Given the description of an element on the screen output the (x, y) to click on. 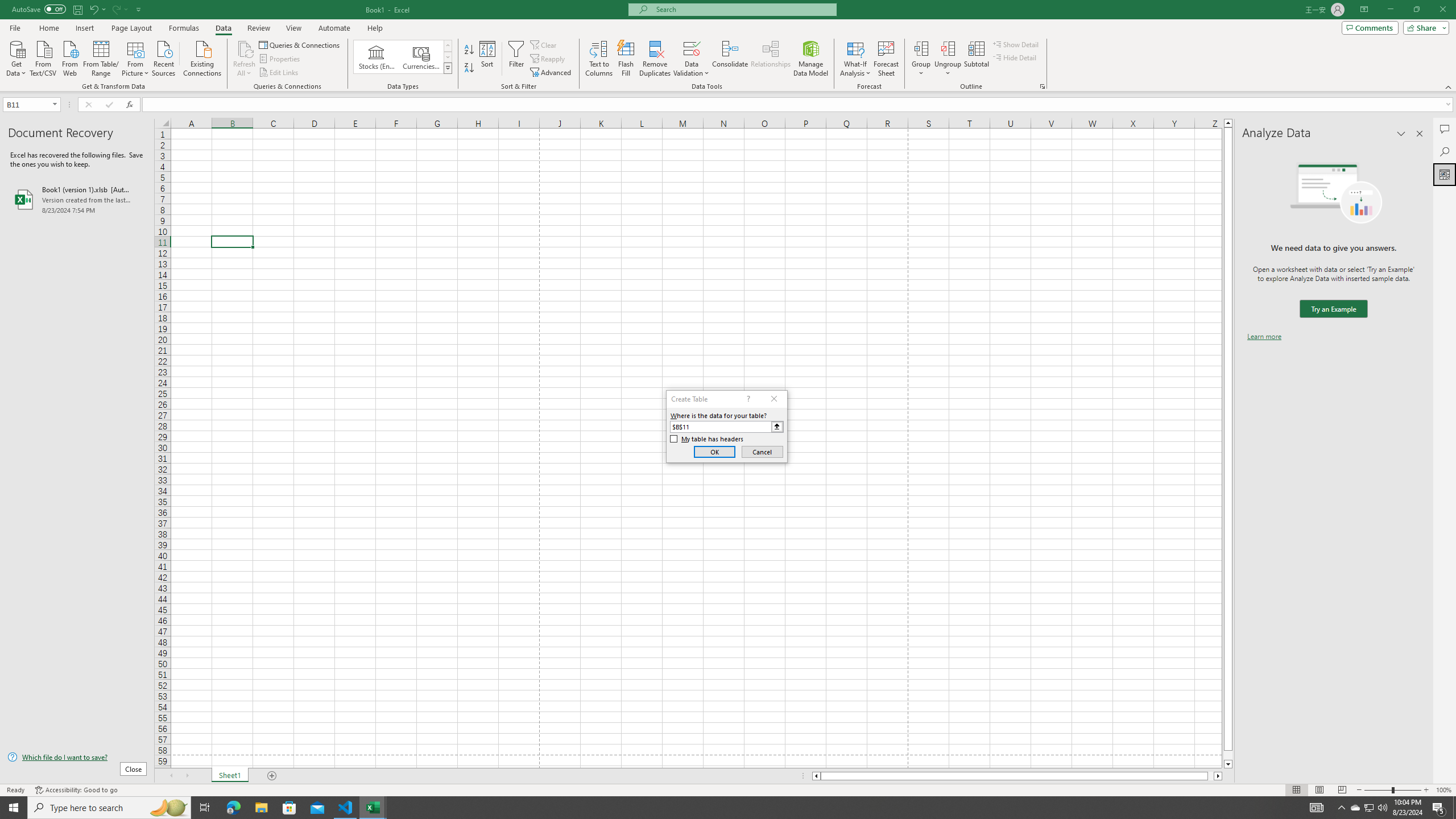
Subtotal (976, 58)
From Table/Range (100, 57)
Class: MsoCommandBar (728, 45)
Learn more (1264, 336)
Consolidate... (729, 58)
